Given the description of an element on the screen output the (x, y) to click on. 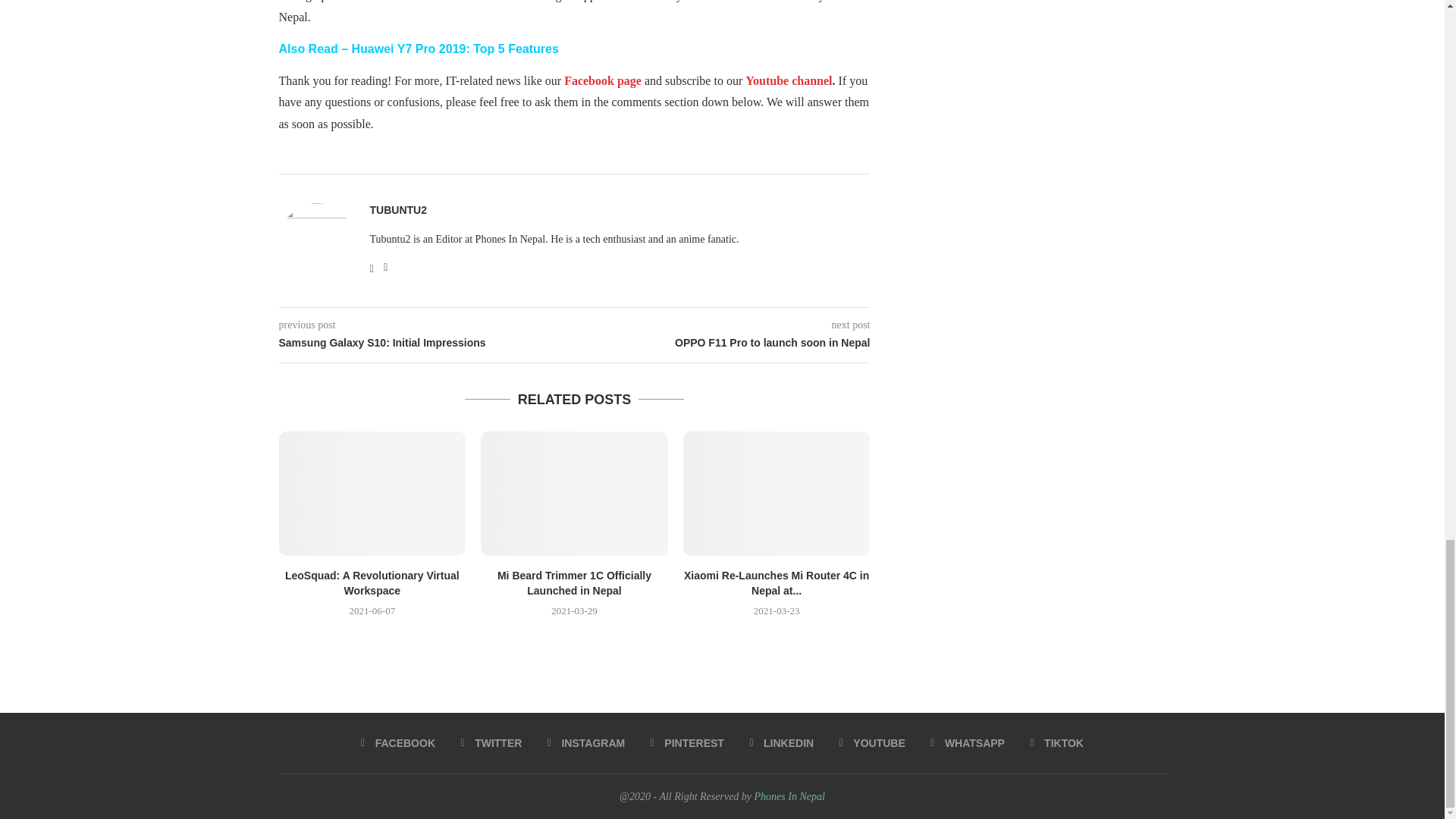
Mi Beard Trimmer 1C Officially Launched in Nepal (573, 583)
Youtube channel (788, 80)
Mi Beard Trimmer 1C Officially Launched in Nepal (574, 493)
OPPO F11 Pro to launch soon in Nepal (722, 343)
Xiaomi Re-Launches Mi Router 4C in Nepal at... (776, 583)
LeoSquad: A Revolutionary Virtual Workspace (372, 583)
TUBUNTU2 (397, 210)
Facebook page  (604, 80)
Samsung Galaxy S10: Initial Impressions (427, 343)
Xiaomi Re-Launches Mi Router 4C in Nepal at an Amazing Price (776, 493)
